Given the description of an element on the screen output the (x, y) to click on. 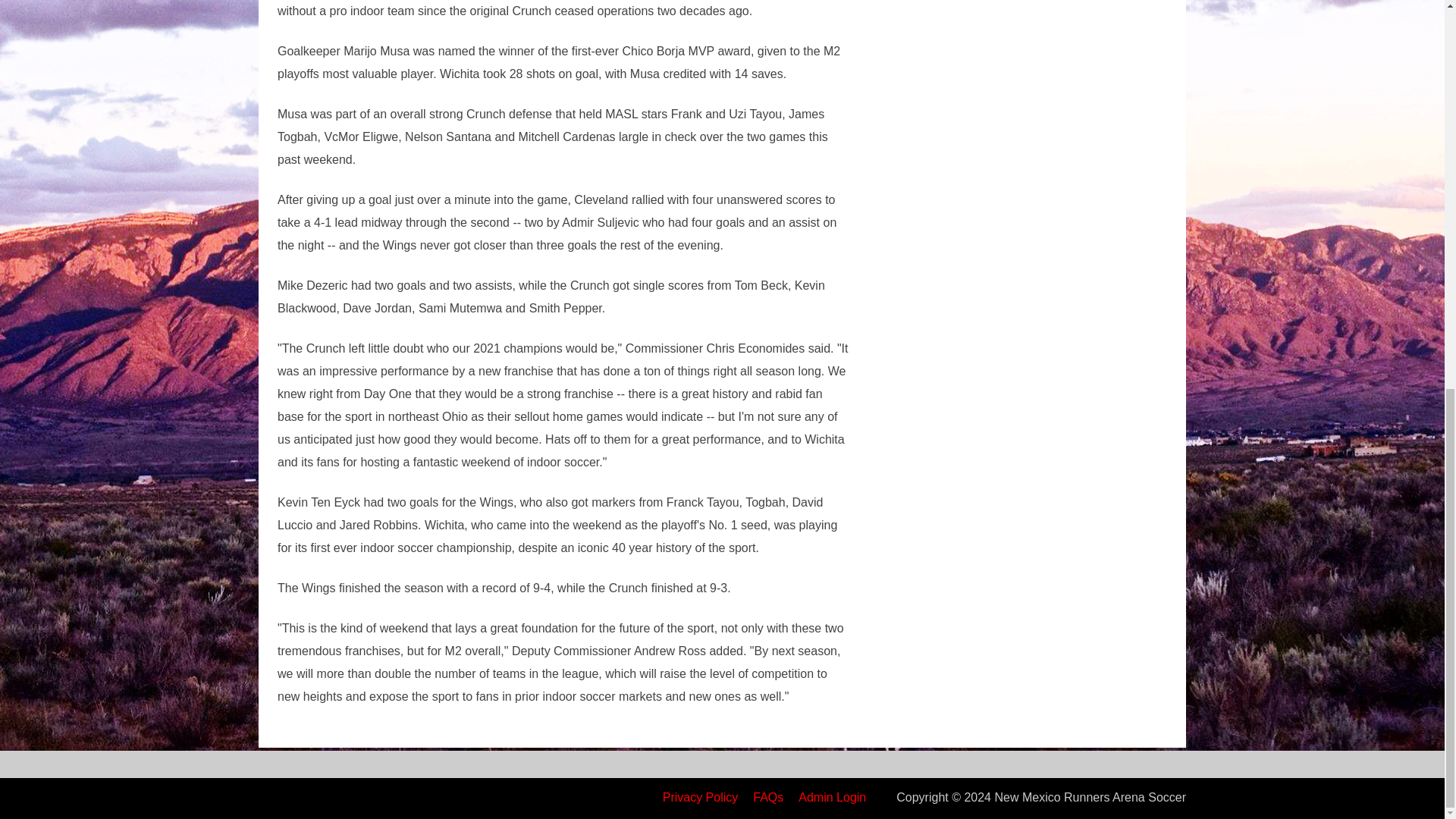
Powered by SoccerShift (273, 797)
